Given the description of an element on the screen output the (x, y) to click on. 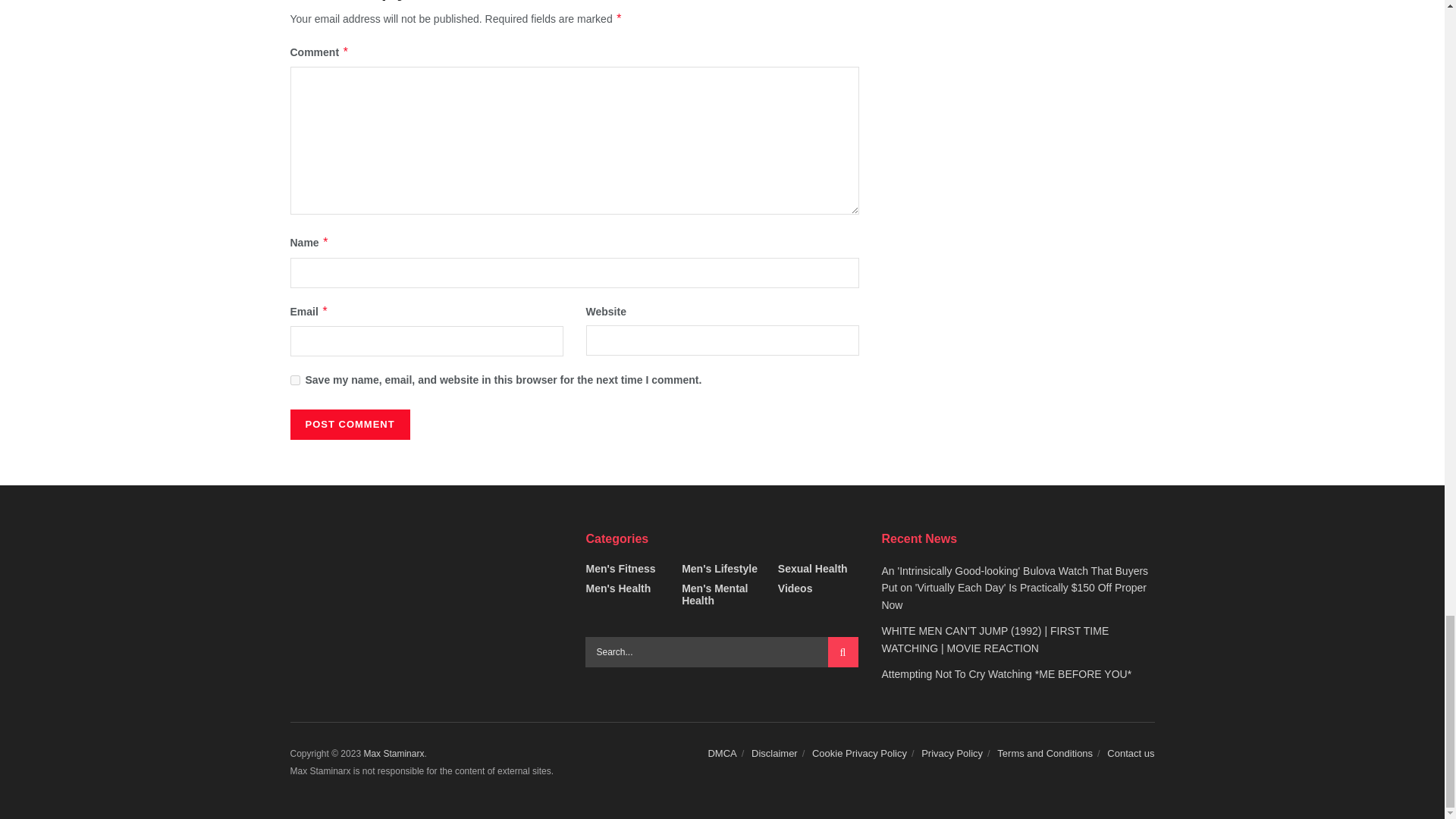
yes (294, 379)
Max Staminarx (392, 753)
Post Comment (349, 424)
